Given the description of an element on the screen output the (x, y) to click on. 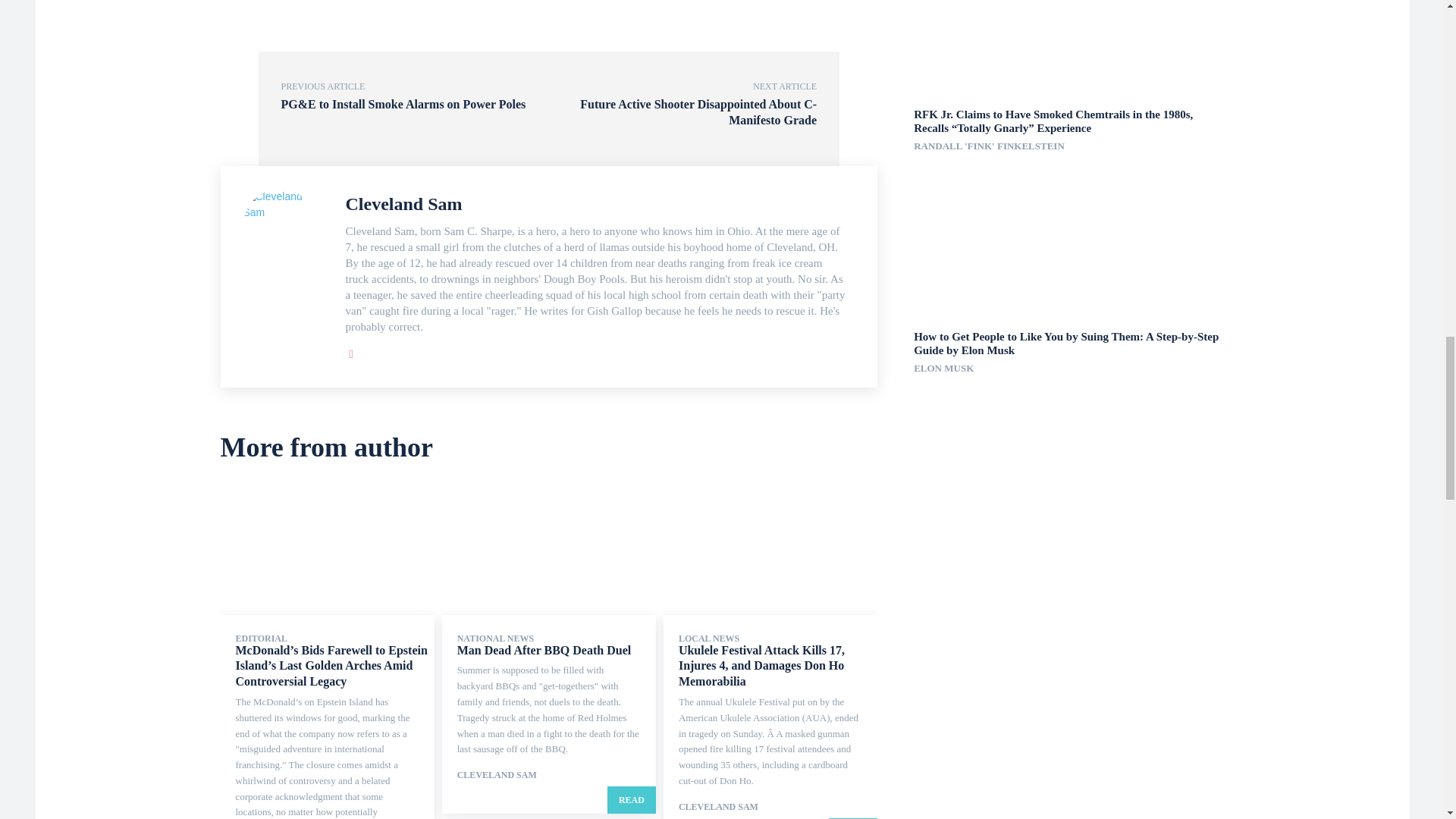
Man Dead After BBQ Death Duel (549, 550)
Facebook (351, 351)
Man Dead After BBQ Death Duel (543, 649)
